Given the description of an element on the screen output the (x, y) to click on. 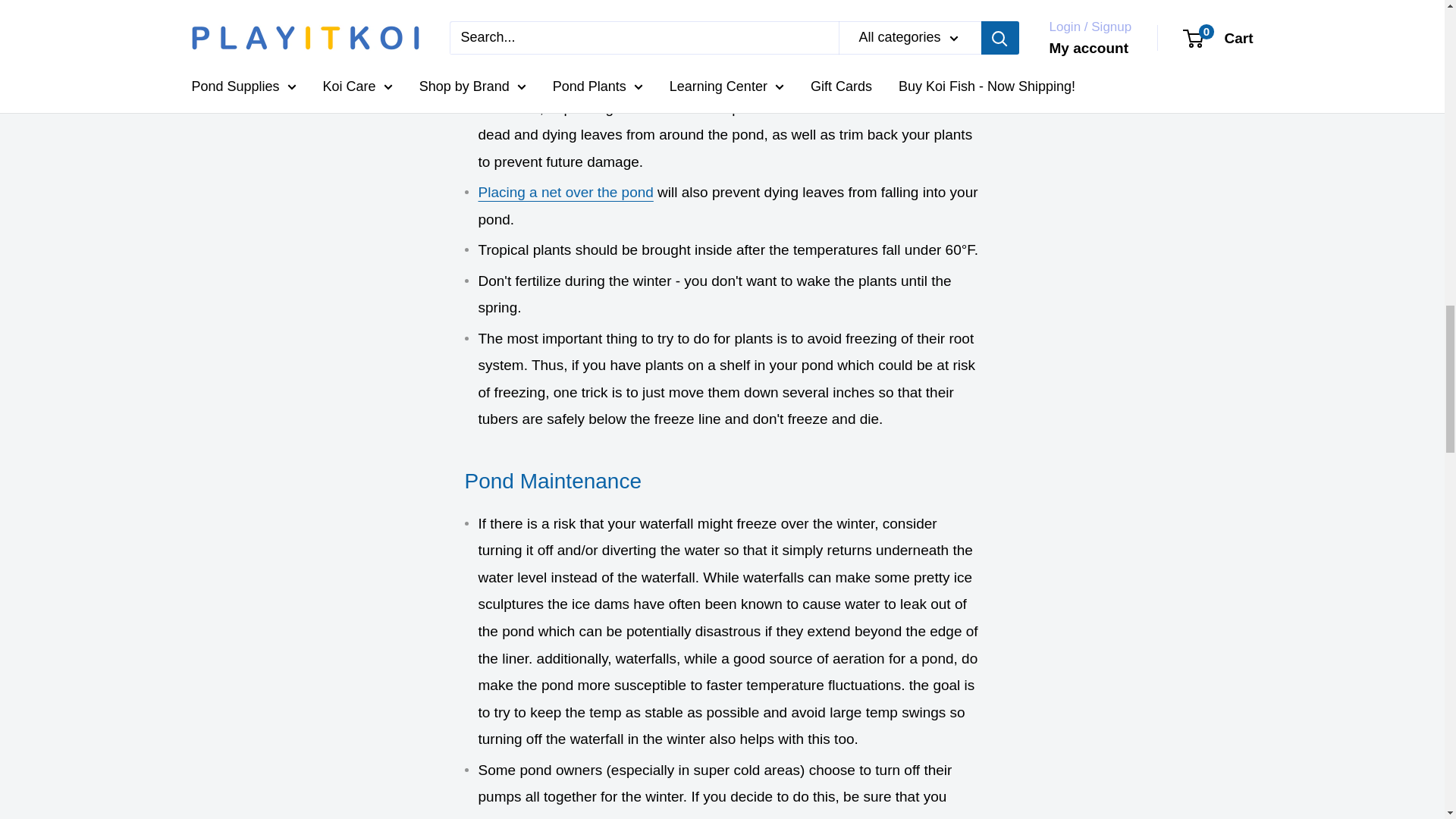
Pond netting (564, 191)
